Given the description of an element on the screen output the (x, y) to click on. 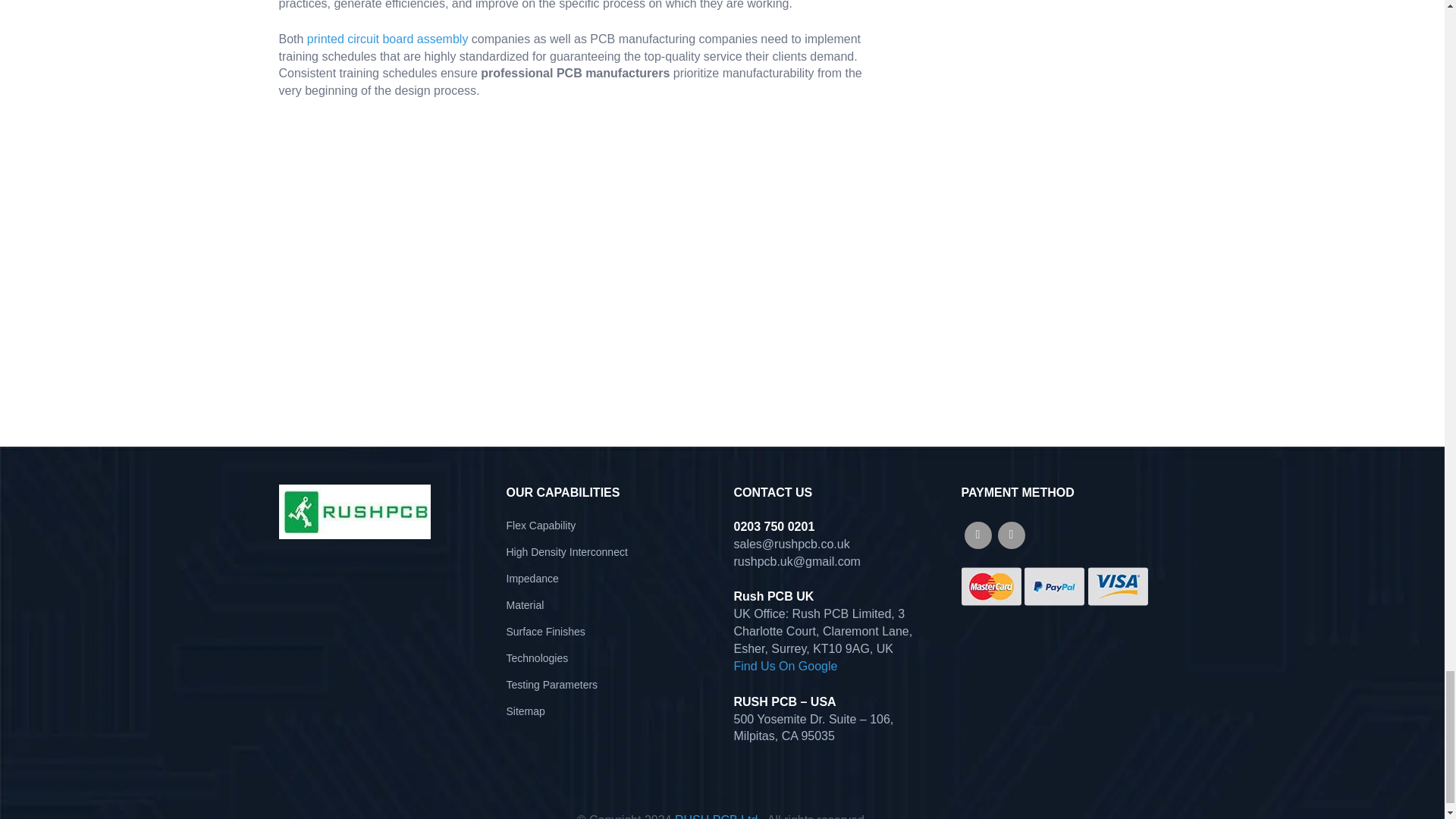
Facebook (977, 534)
RUSH PCB Ltd (716, 816)
Twitter (1011, 534)
